Given the description of an element on the screen output the (x, y) to click on. 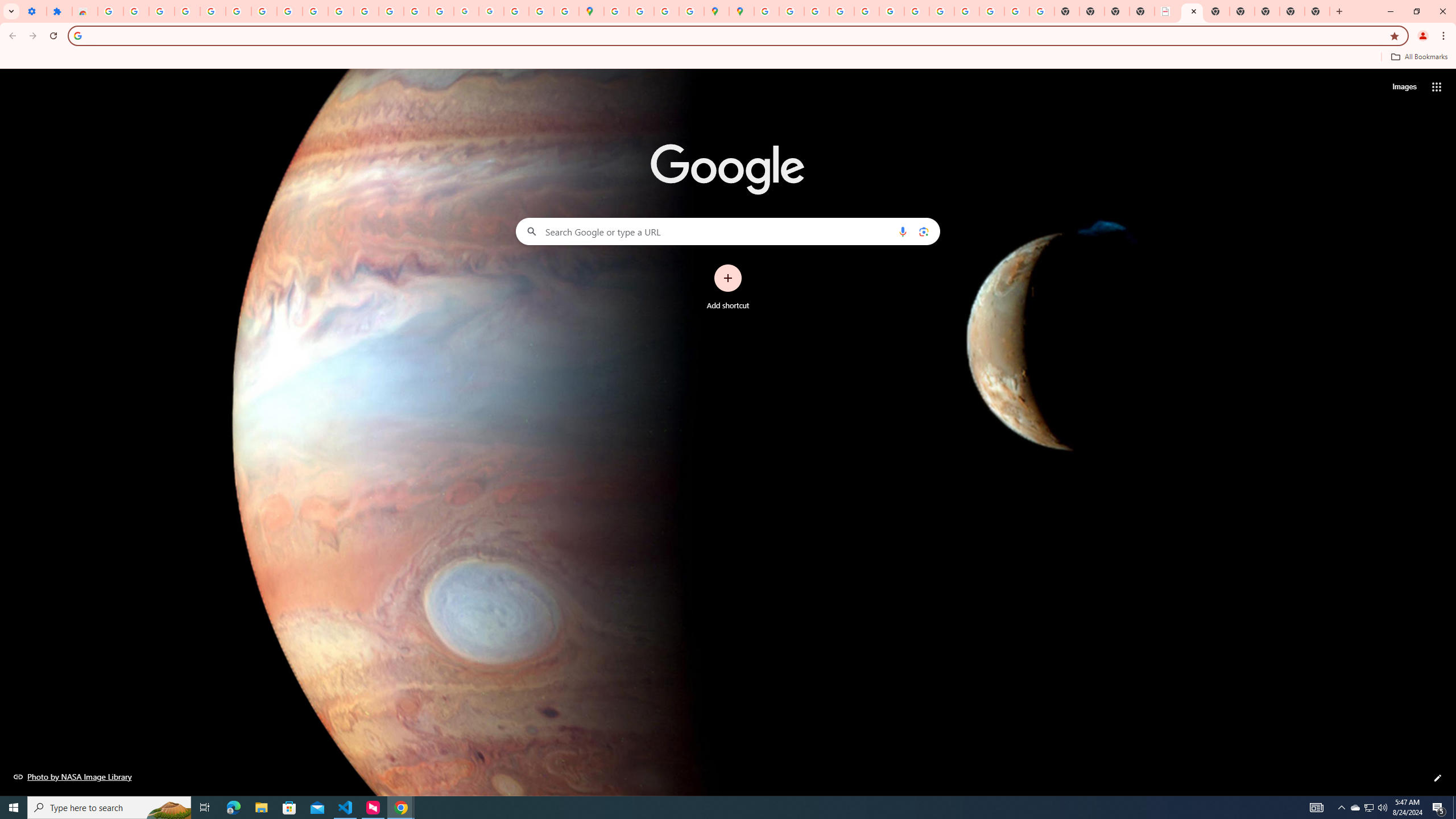
LAAD Defence & Security 2025 | BAE Systems (1166, 11)
Safety in Our Products - Google Safety Center (691, 11)
New Tab (1317, 11)
New Tab (1241, 11)
